Given the description of an element on the screen output the (x, y) to click on. 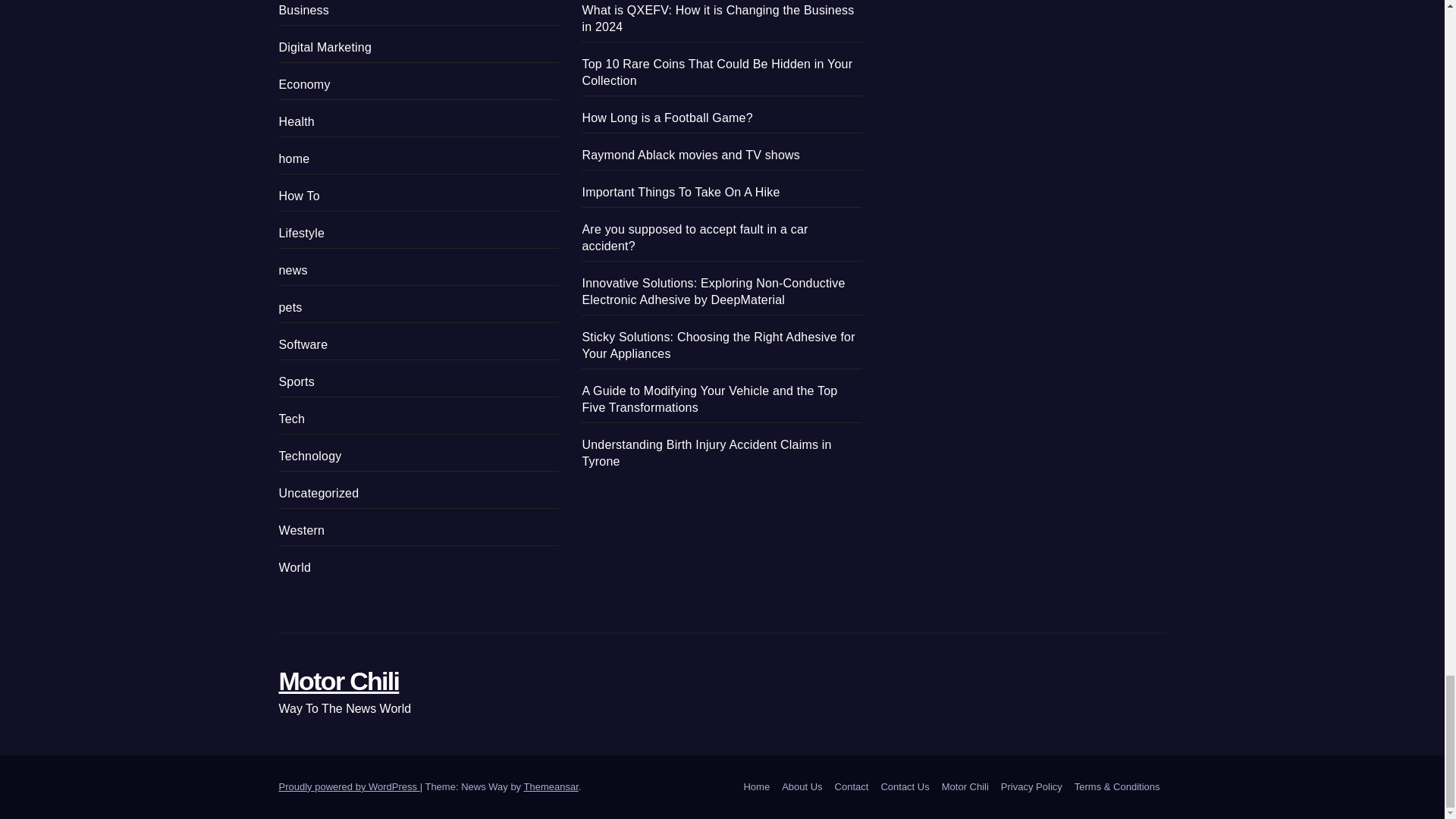
Home (756, 786)
